Given the description of an element on the screen output the (x, y) to click on. 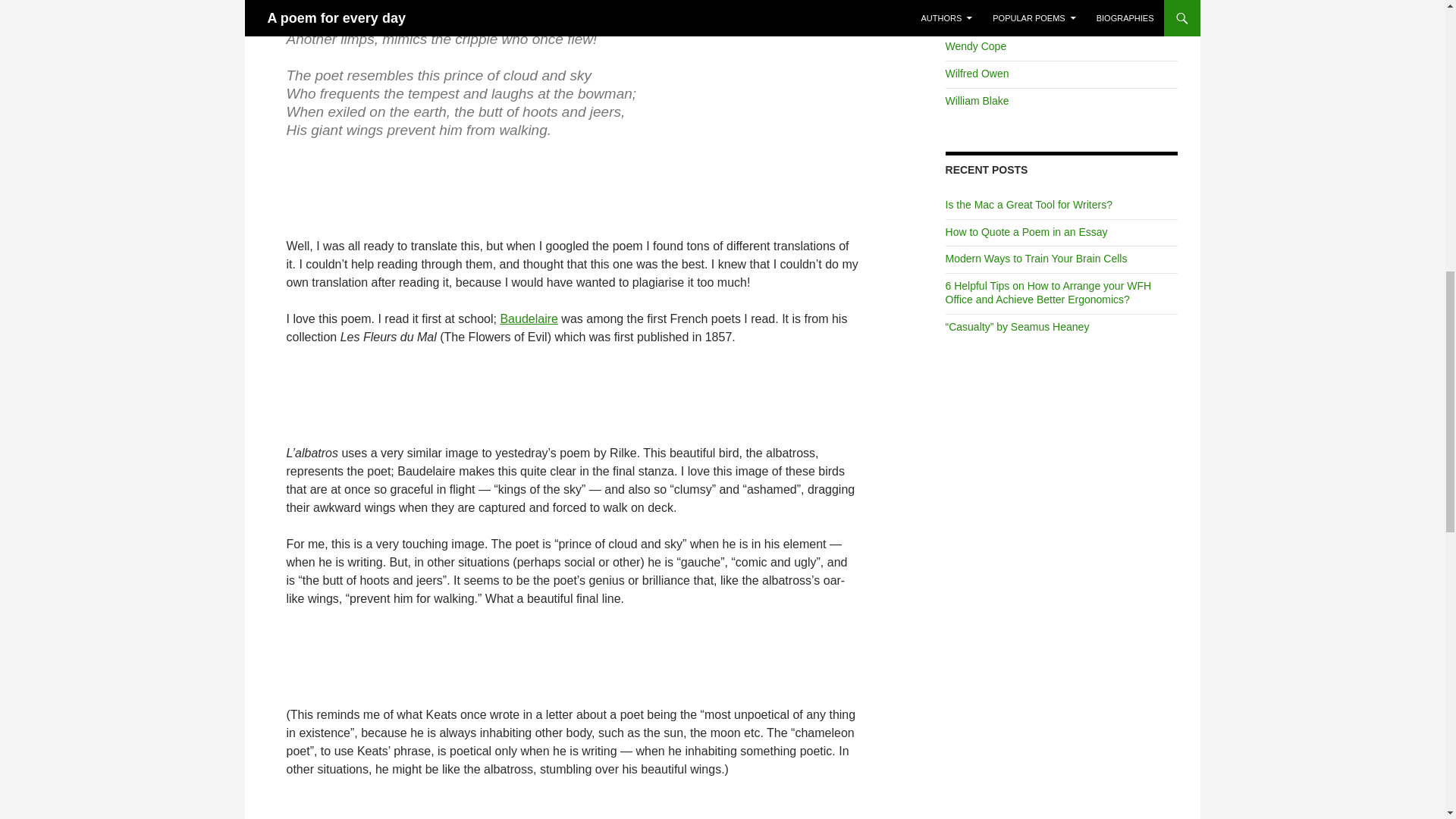
Advertisement (572, 660)
Advertisement (572, 192)
Advertisement (572, 398)
